Given the description of an element on the screen output the (x, y) to click on. 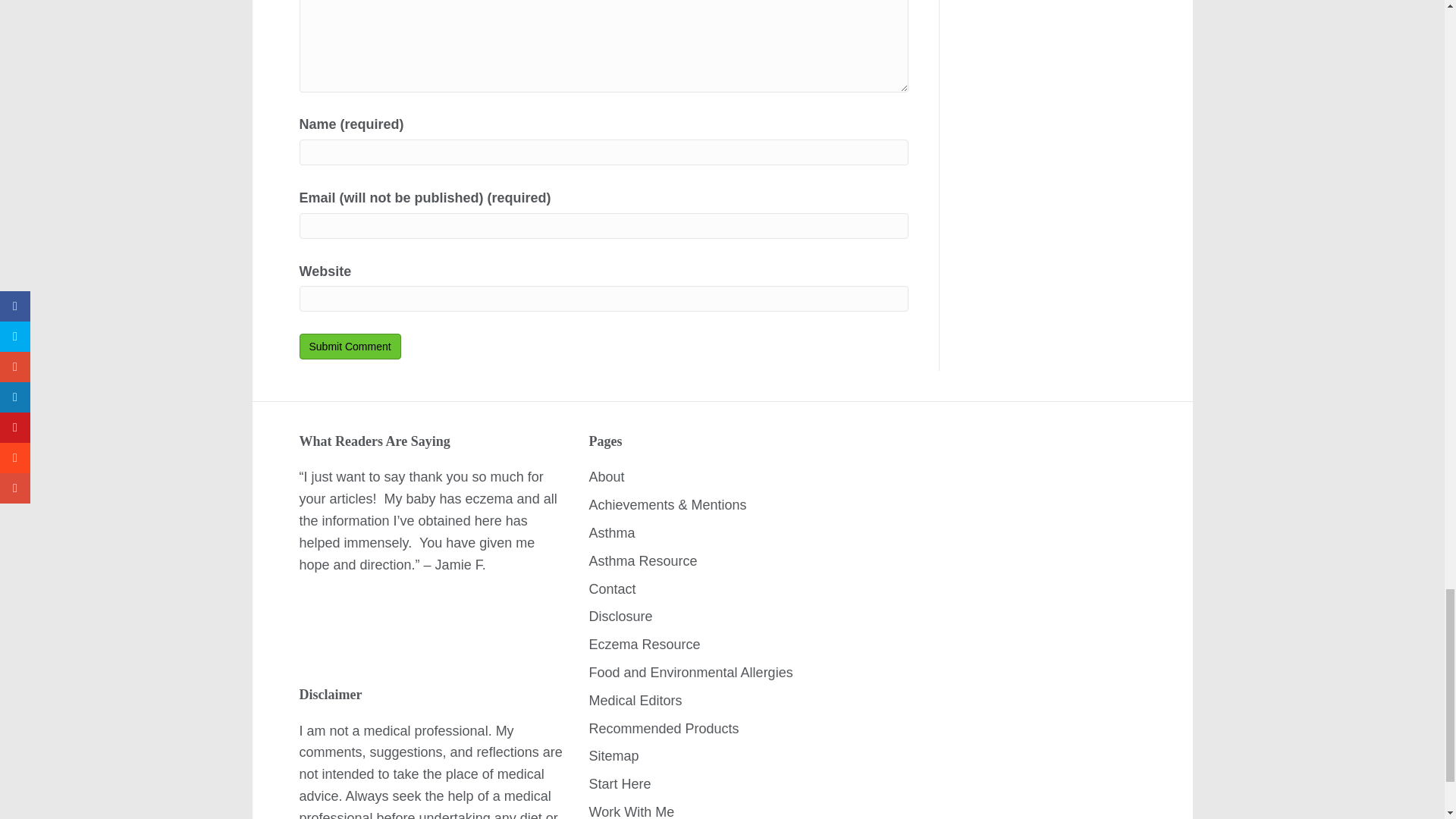
Submit Comment (349, 346)
